Given the description of an element on the screen output the (x, y) to click on. 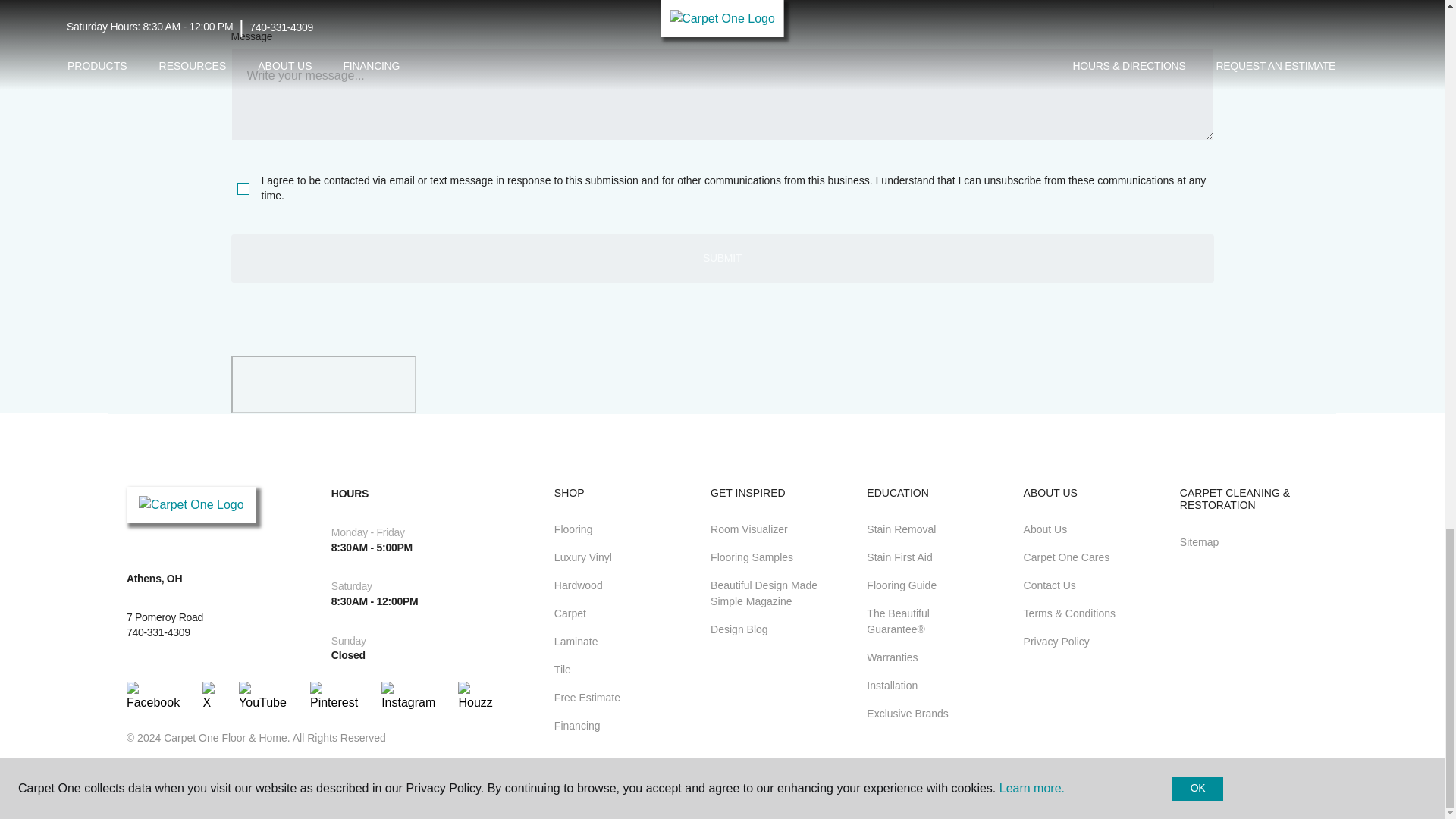
MyMessage (721, 93)
PostalCode (471, 4)
